Given the description of an element on the screen output the (x, y) to click on. 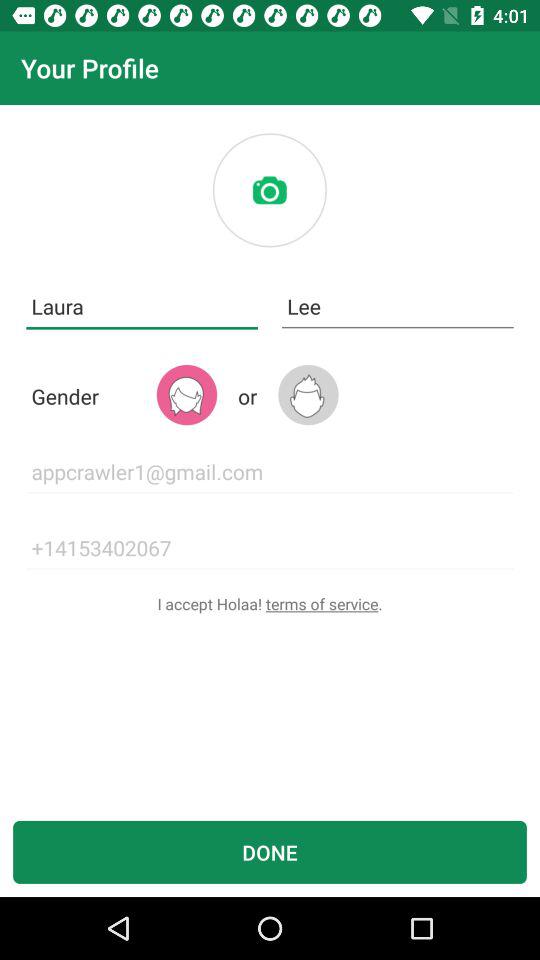
launch icon below +14153402067 icon (269, 603)
